Given the description of an element on the screen output the (x, y) to click on. 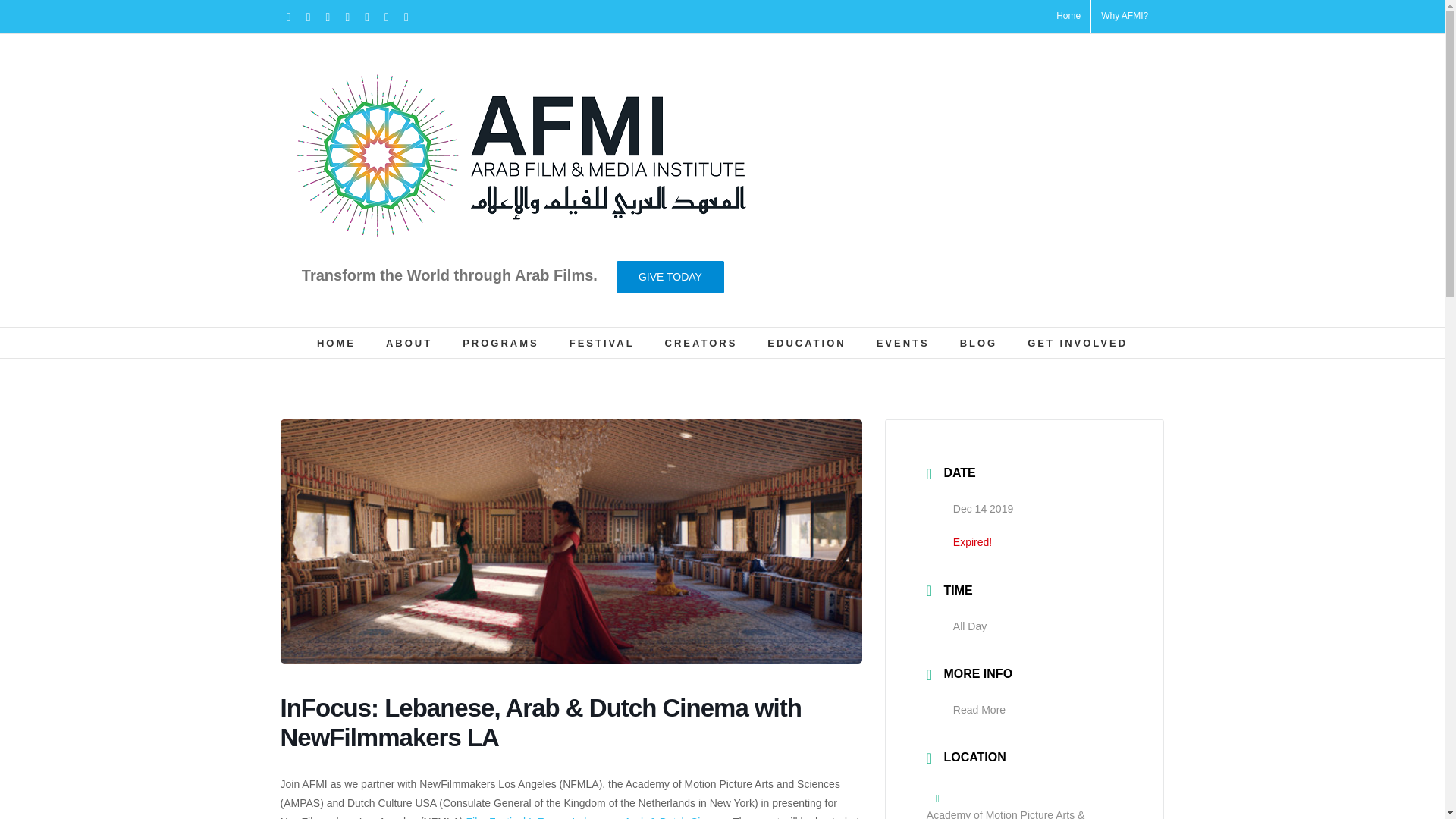
GIVE TODAY (669, 277)
Home (1068, 16)
BLOG (978, 342)
Why AFMI? (1123, 16)
CREATORS (701, 342)
EDUCATION (806, 342)
HOME (336, 342)
FESTIVAL (601, 342)
EVENTS (903, 342)
GET INVOLVED (1076, 342)
